Given the description of an element on the screen output the (x, y) to click on. 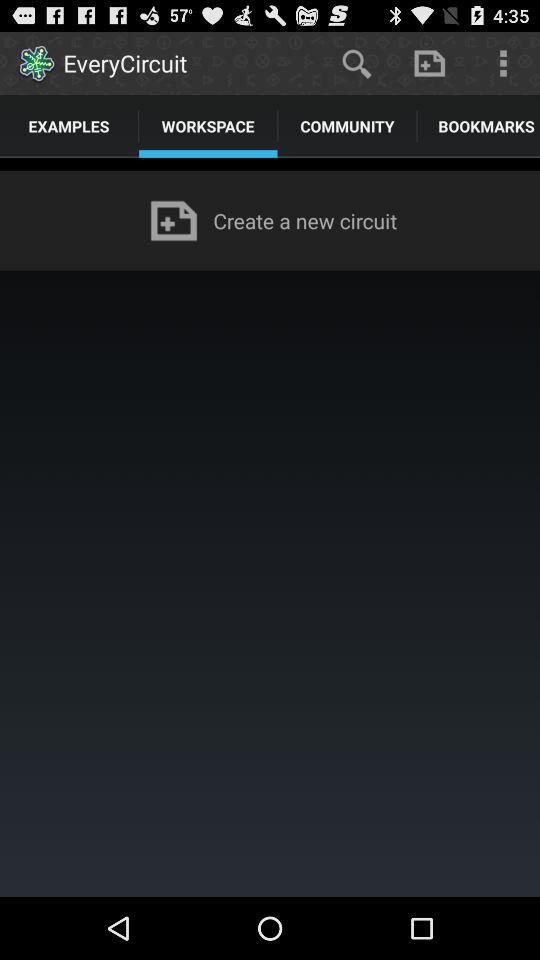
choose the app above the community app (356, 62)
